Given the description of an element on the screen output the (x, y) to click on. 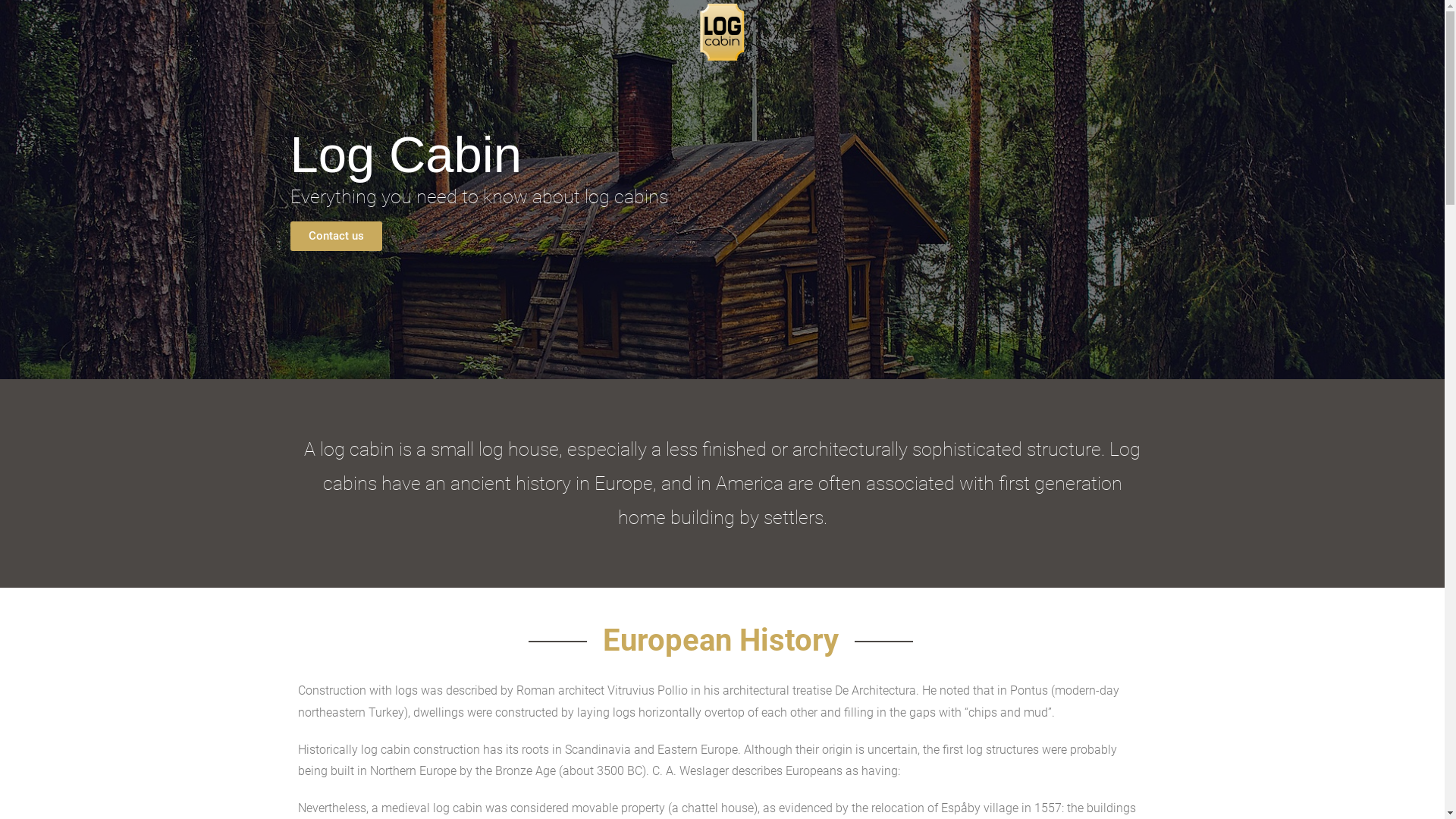
Contact us Element type: text (335, 236)
